Given the description of an element on the screen output the (x, y) to click on. 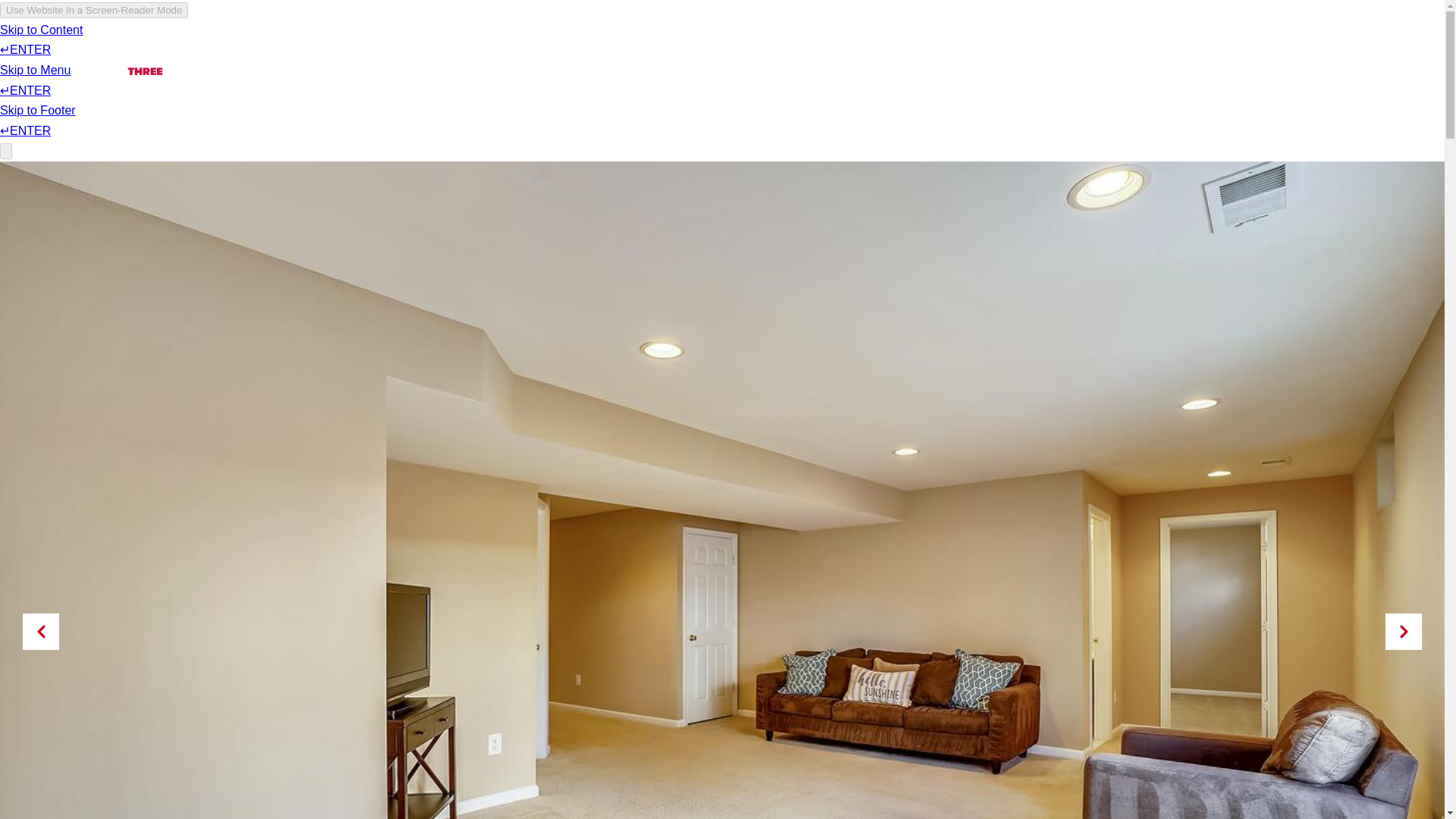
PORTFOLIO (808, 54)
HOME VALUATION (1137, 54)
OUR LOCATIONS (910, 54)
HOME SEARCH (1022, 54)
HIRE US (1232, 54)
